Given the description of an element on the screen output the (x, y) to click on. 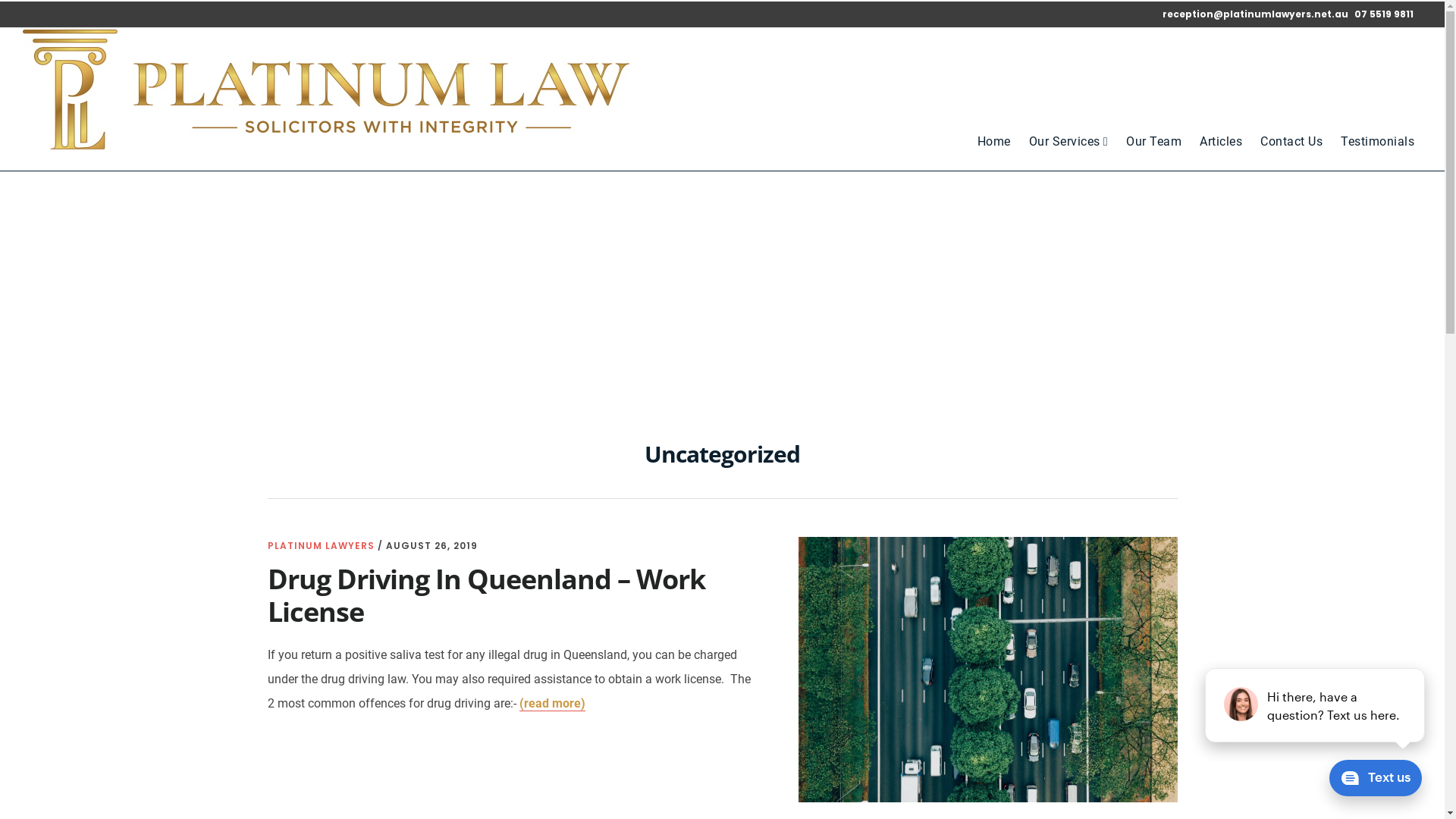
Our Team Element type: text (1153, 141)
Skip to main content Element type: text (0, 0)
Contact Us Element type: text (1291, 141)
Testimonials Element type: text (1377, 141)
(read more) Element type: text (551, 703)
Platinum Lawyers Element type: hover (325, 143)
podium webchat widget prompt Element type: hover (1315, 705)
07 5519 9811 Element type: text (1383, 13)
Our Services Element type: text (1068, 141)
Home Element type: text (993, 141)
reception@platinumlawyers.net.au Element type: text (1256, 13)
Articles Element type: text (1220, 141)
PLATINUM LAWYERS Element type: text (319, 545)
